Given the description of an element on the screen output the (x, y) to click on. 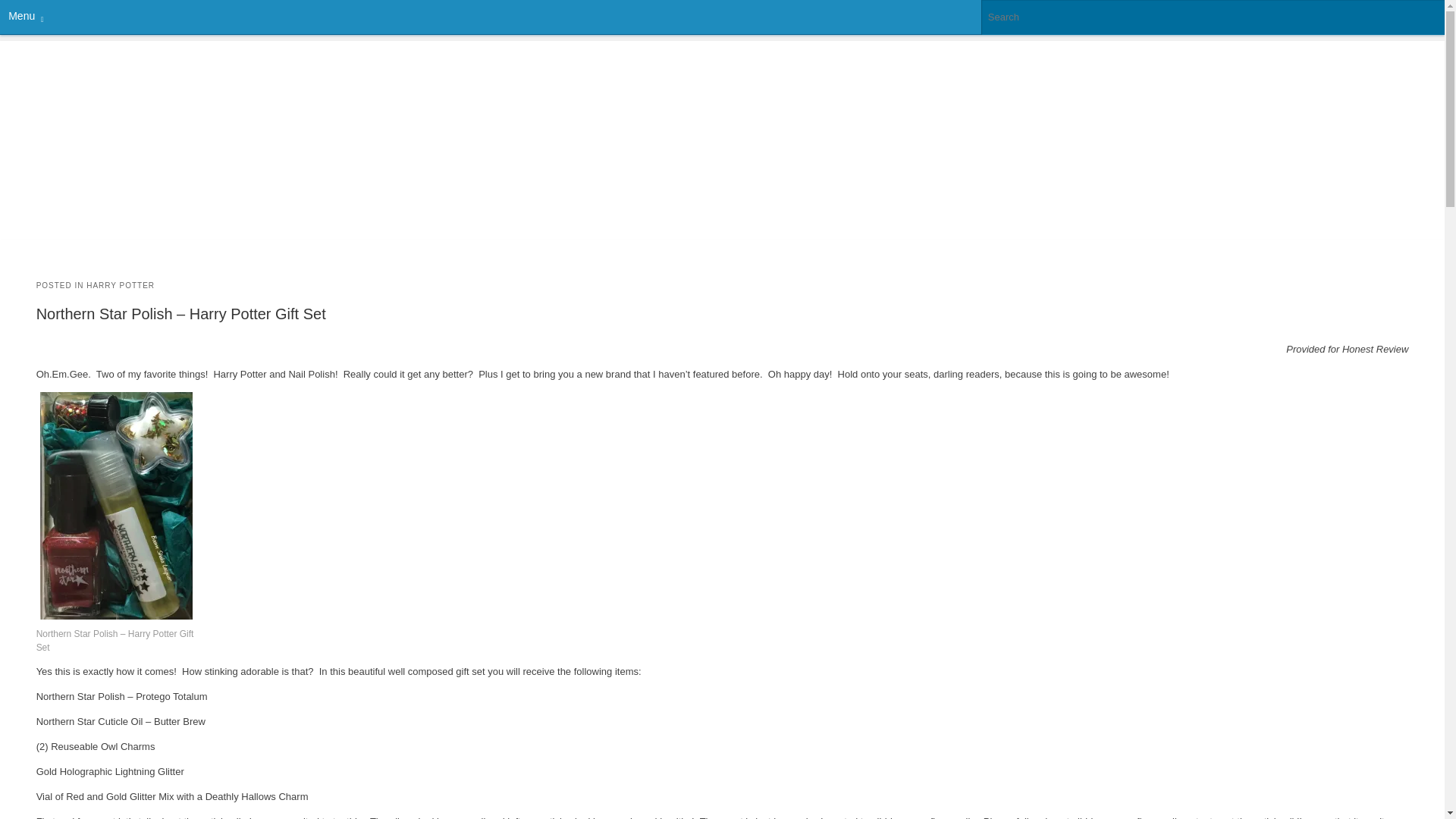
Search (21, 7)
